Given the description of an element on the screen output the (x, y) to click on. 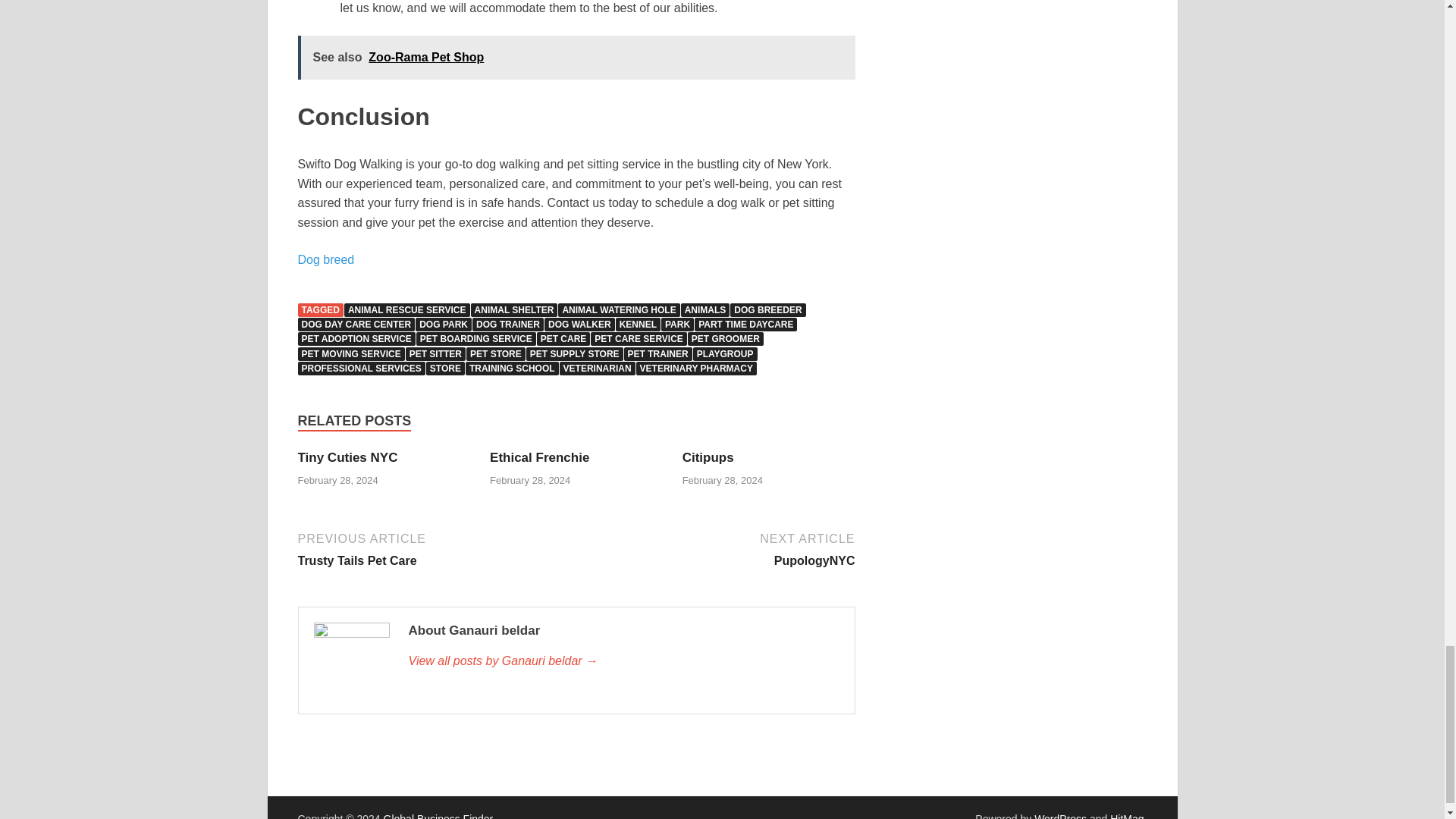
PET MOVING SERVICE (350, 354)
PET ADOPTION SERVICE (355, 338)
DOG PARK (442, 324)
ANIMALS (705, 309)
PET CARE SERVICE (638, 338)
Tiny Cuties NYC (347, 457)
PET GROOMER (724, 338)
PET CARE (564, 338)
See also  Zoo-Rama Pet Shop (575, 57)
KENNEL (638, 324)
Citipups (707, 457)
DOG DAY CARE CENTER (355, 324)
ANIMAL RESCUE SERVICE (406, 309)
PARK (677, 324)
Ethical Frenchie (539, 457)
